Given the description of an element on the screen output the (x, y) to click on. 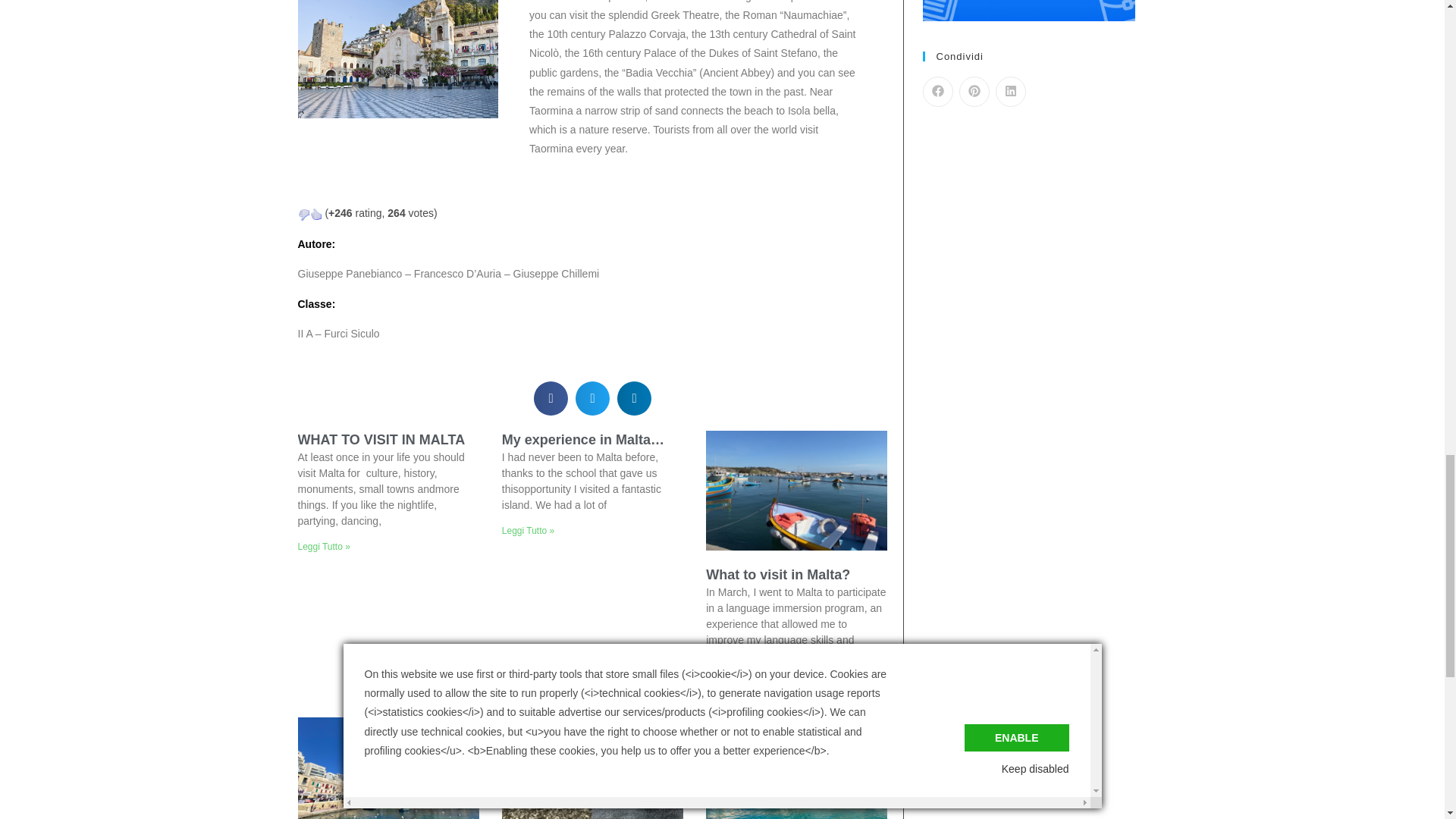
WHAT TO VISIT IN MALTA (380, 439)
Share on LinkedIn (1009, 91)
What to visit in Malta? (778, 574)
Share on Facebook (936, 91)
Vote Down (302, 214)
Vote Up (314, 214)
Share on Pinterest (973, 91)
